Given the description of an element on the screen output the (x, y) to click on. 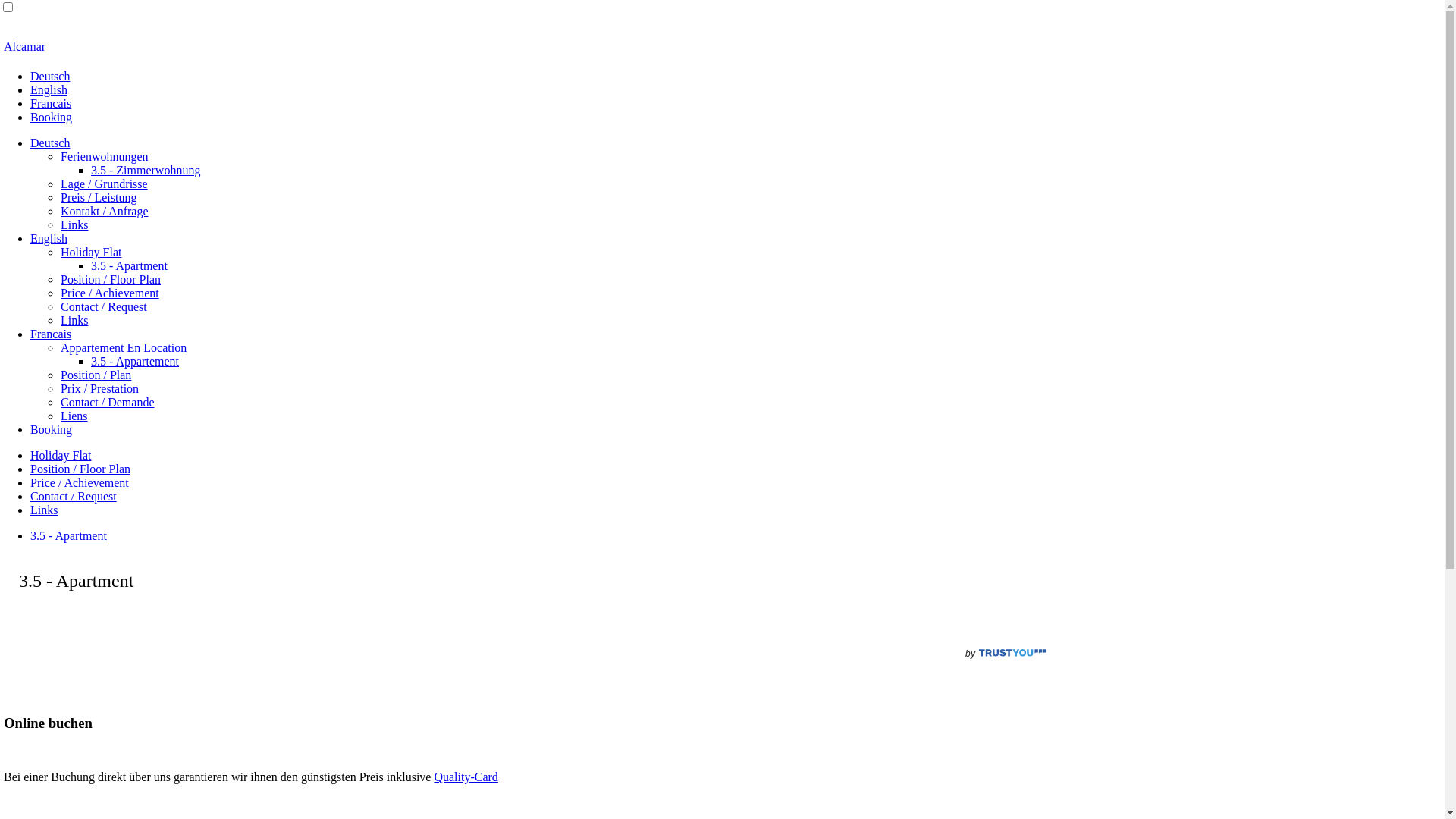
3.5 - Appartement Element type: text (134, 360)
Preis / Leistung Element type: text (98, 197)
Links Element type: text (43, 509)
3.5 - Apartment Element type: text (129, 265)
Francais Element type: text (50, 333)
Position / Floor Plan Element type: text (110, 279)
Contact / Request Element type: text (73, 495)
3.5 - Apartment Element type: text (75, 580)
Alcamar Element type: text (721, 46)
Booking Element type: text (51, 116)
Liens Element type: text (73, 415)
Links Element type: text (73, 224)
Quality-Card Element type: text (465, 776)
Contact / Request Element type: text (103, 306)
Position / Plan Element type: text (95, 374)
English Element type: text (48, 89)
Holiday Flat Element type: text (60, 454)
Prix / Prestation Element type: text (99, 388)
Price / Achievement Element type: text (109, 292)
Lage / Grundrisse Element type: text (103, 183)
Price / Achievement Element type: text (79, 482)
Position / Floor Plan Element type: text (80, 468)
3.5 - Zimmerwohnung Element type: text (145, 169)
Ferienwohnungen Element type: text (104, 156)
Kontakt / Anfrage Element type: text (104, 210)
Deutsch Element type: text (49, 75)
Links Element type: text (73, 319)
Francais Element type: text (50, 103)
English Element type: text (48, 238)
Contact / Demande Element type: text (107, 401)
3.5 - Apartment Element type: text (68, 535)
Holiday Flat Element type: text (90, 251)
Appartement En Location Element type: text (123, 347)
Deutsch Element type: text (49, 142)
Booking Element type: text (51, 429)
